Given the description of an element on the screen output the (x, y) to click on. 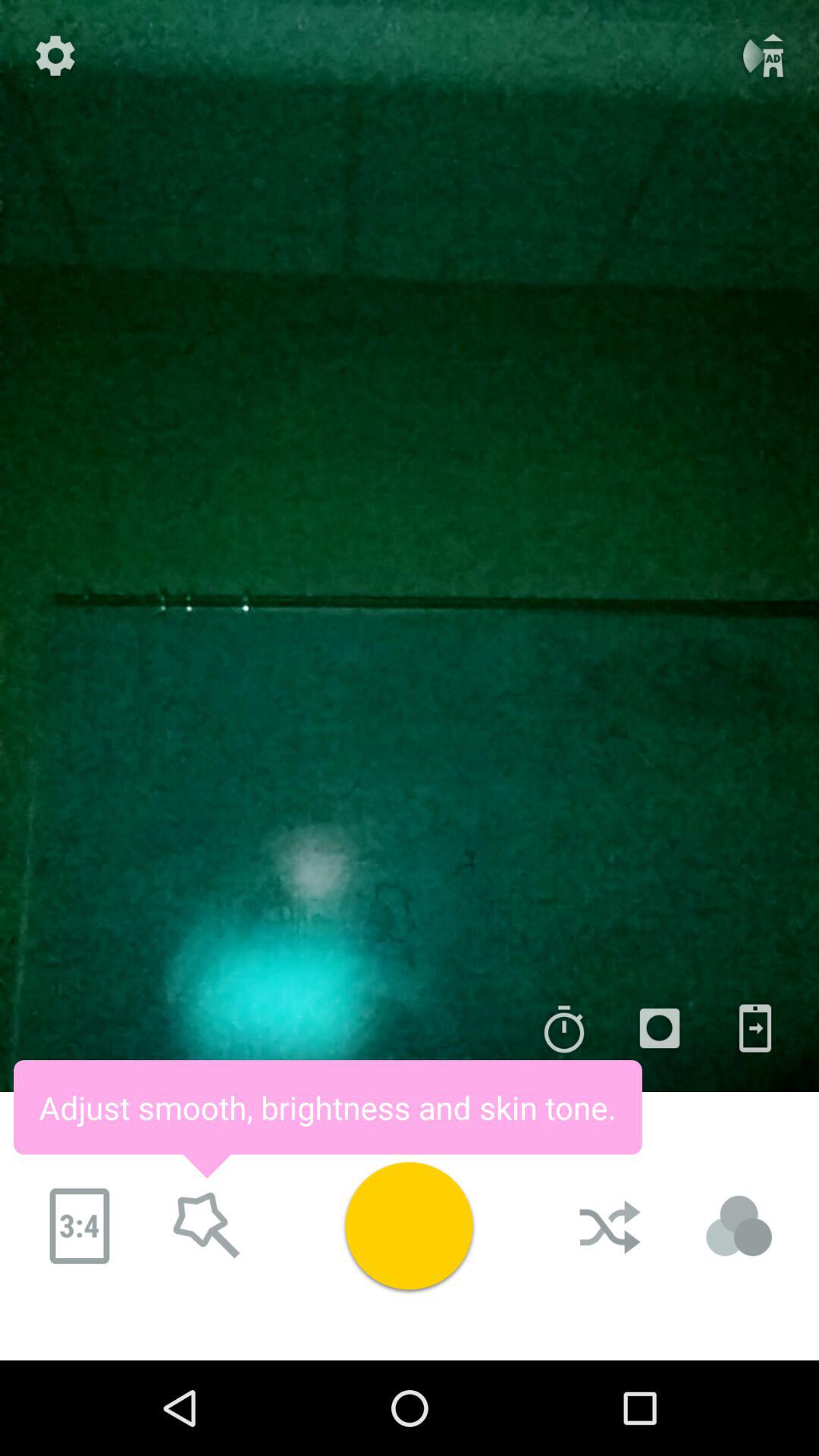
click on shuffle (611, 1226)
